Given the description of an element on the screen output the (x, y) to click on. 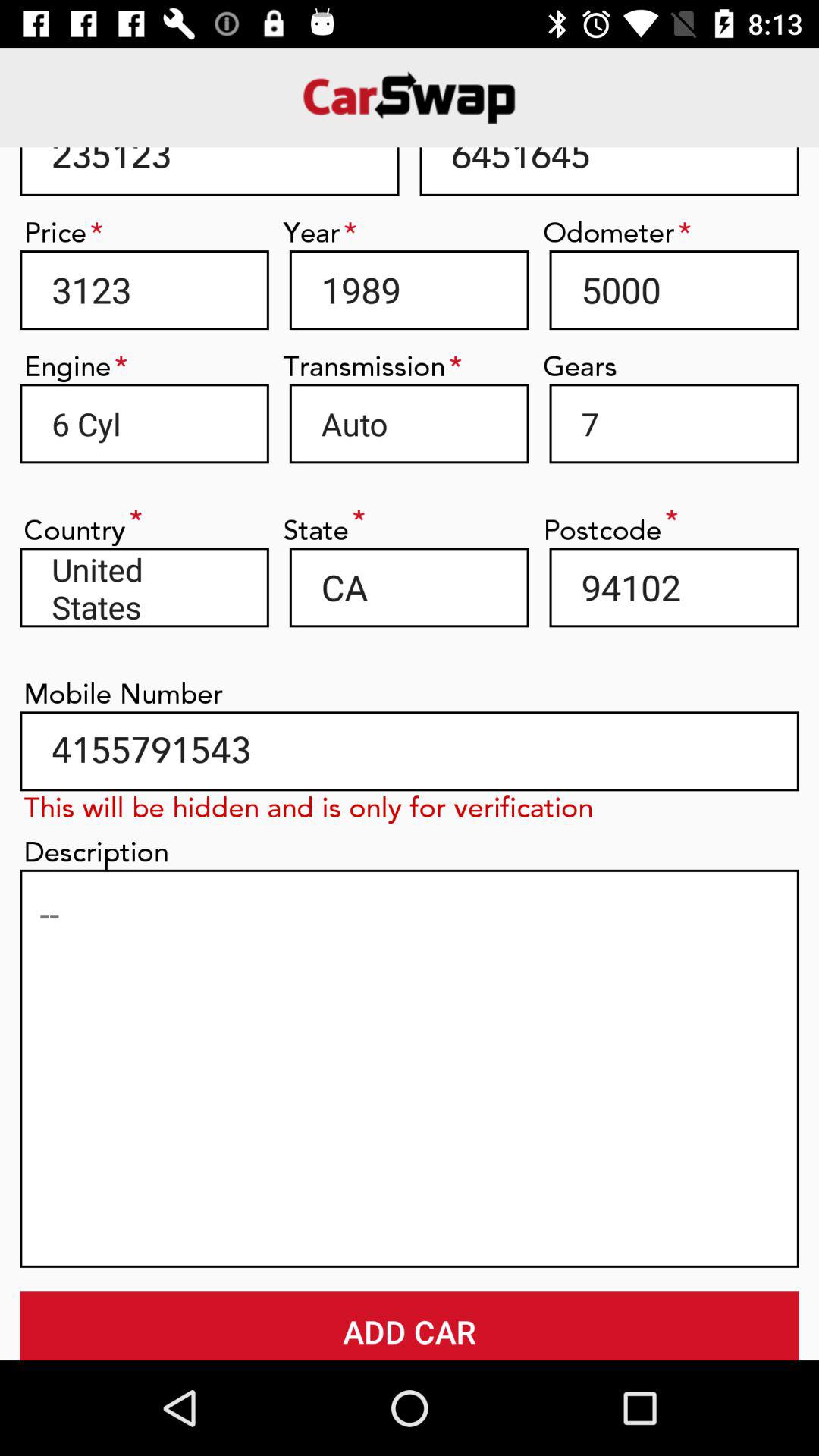
type description (409, 1068)
